Given the description of an element on the screen output the (x, y) to click on. 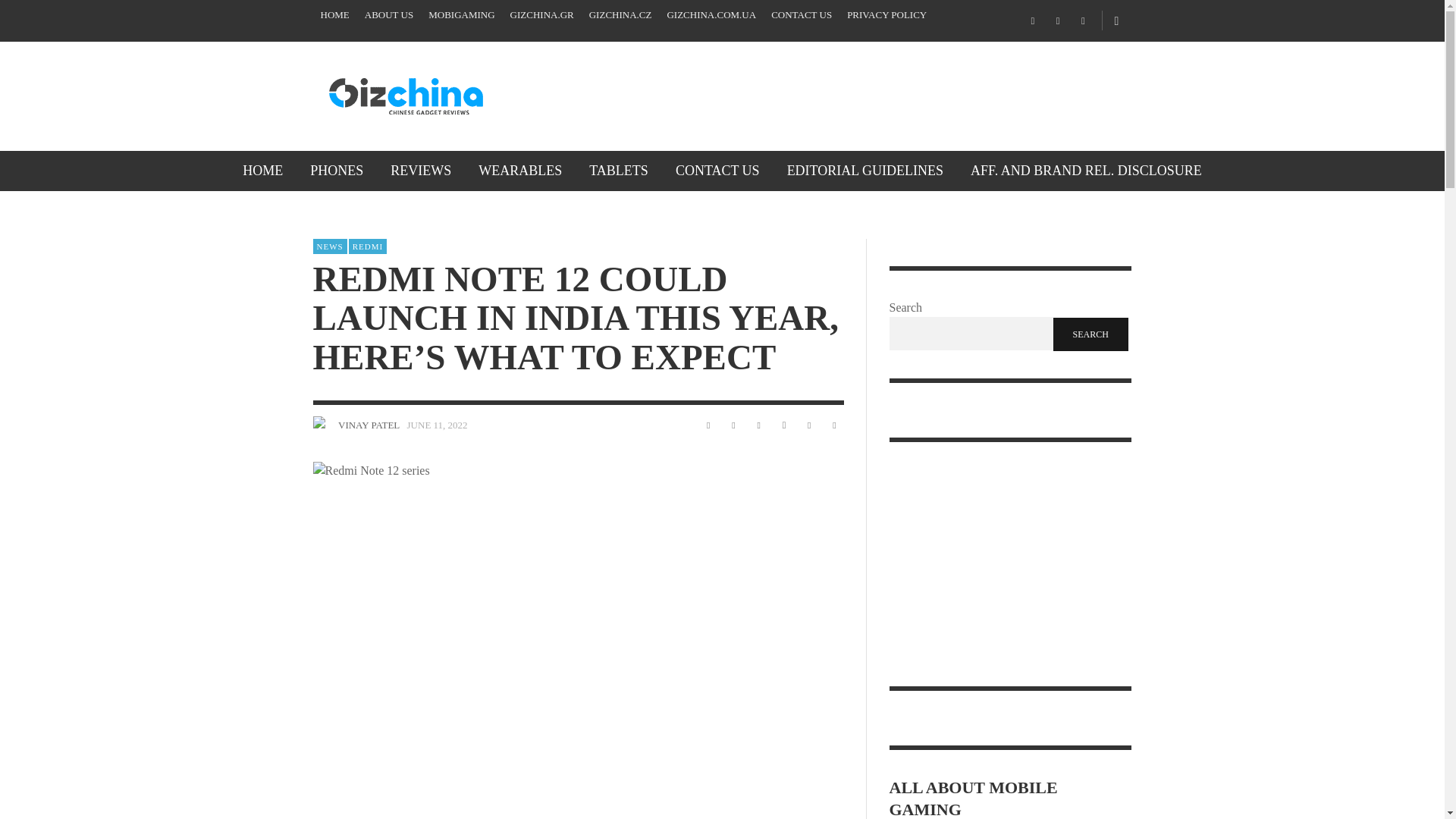
GIZCHINA.COM.UA (710, 15)
PRIVACY POLICY (887, 15)
REVIEWS (420, 170)
HOME (262, 170)
CONTACT US (801, 15)
MOBIGAMING (461, 15)
HOME (334, 15)
GIZCHINA.CZ (619, 15)
ABOUT US (388, 15)
PHONES (337, 170)
